Given the description of an element on the screen output the (x, y) to click on. 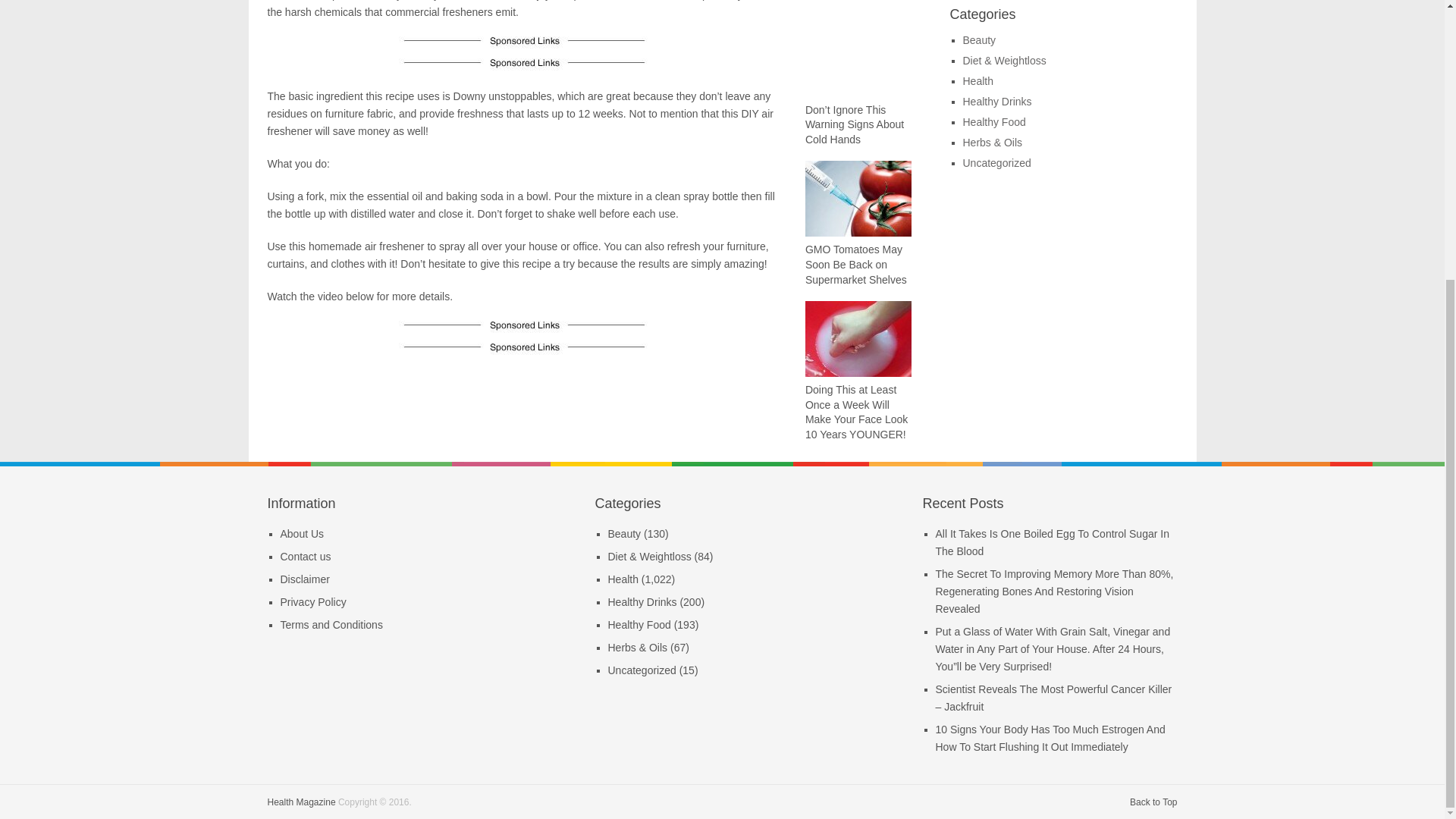
Health (623, 579)
Your guidance for healthy life! (300, 801)
Terms and Conditions (331, 624)
Disclaimer (305, 579)
Healthy Food (639, 624)
Healthy Food (994, 121)
Healthy Drinks (997, 101)
Privacy Policy (313, 602)
Health (977, 80)
Uncategorized (642, 670)
Healthy Drinks (642, 602)
All It Takes Is One Boiled Egg To Control Sugar In The Blood (1052, 542)
Beauty (625, 533)
Beauty (978, 39)
